Given the description of an element on the screen output the (x, y) to click on. 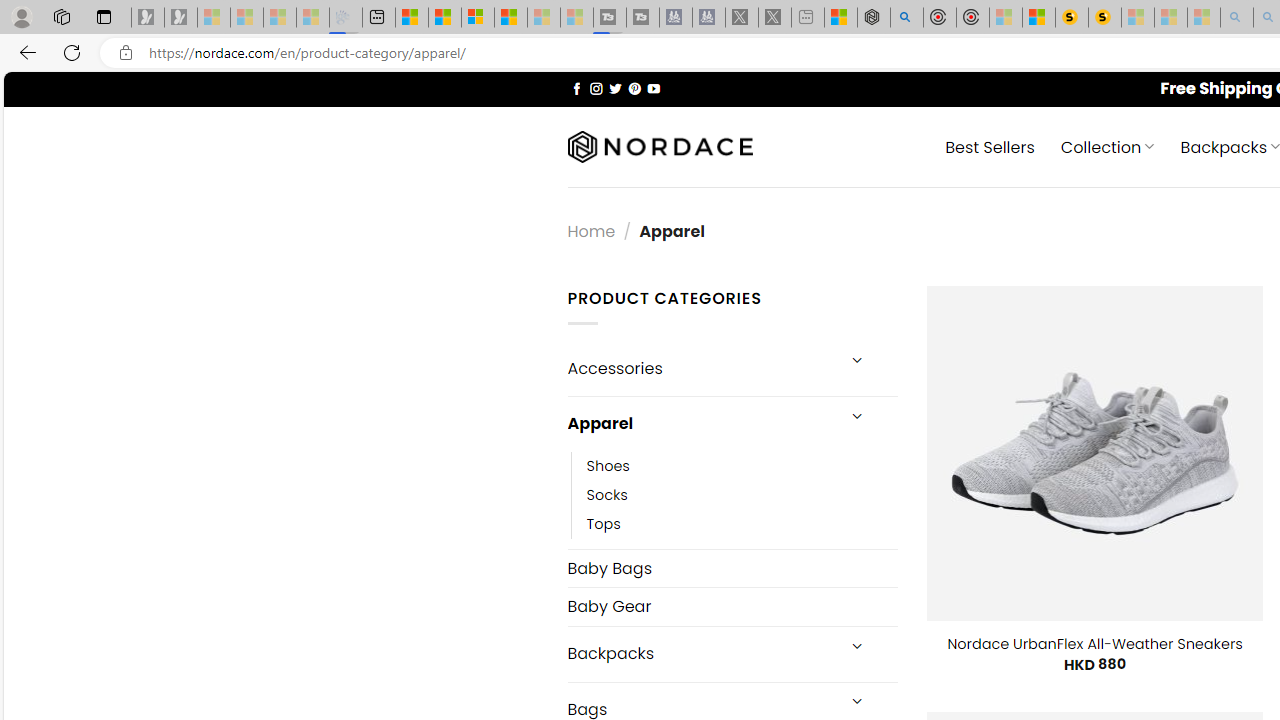
Streaming Coverage | T3 - Sleeping (609, 17)
X - Sleeping (775, 17)
Tops (603, 524)
Follow on Facebook (576, 88)
Accessories (700, 368)
Baby Bags (732, 567)
